Given the description of an element on the screen output the (x, y) to click on. 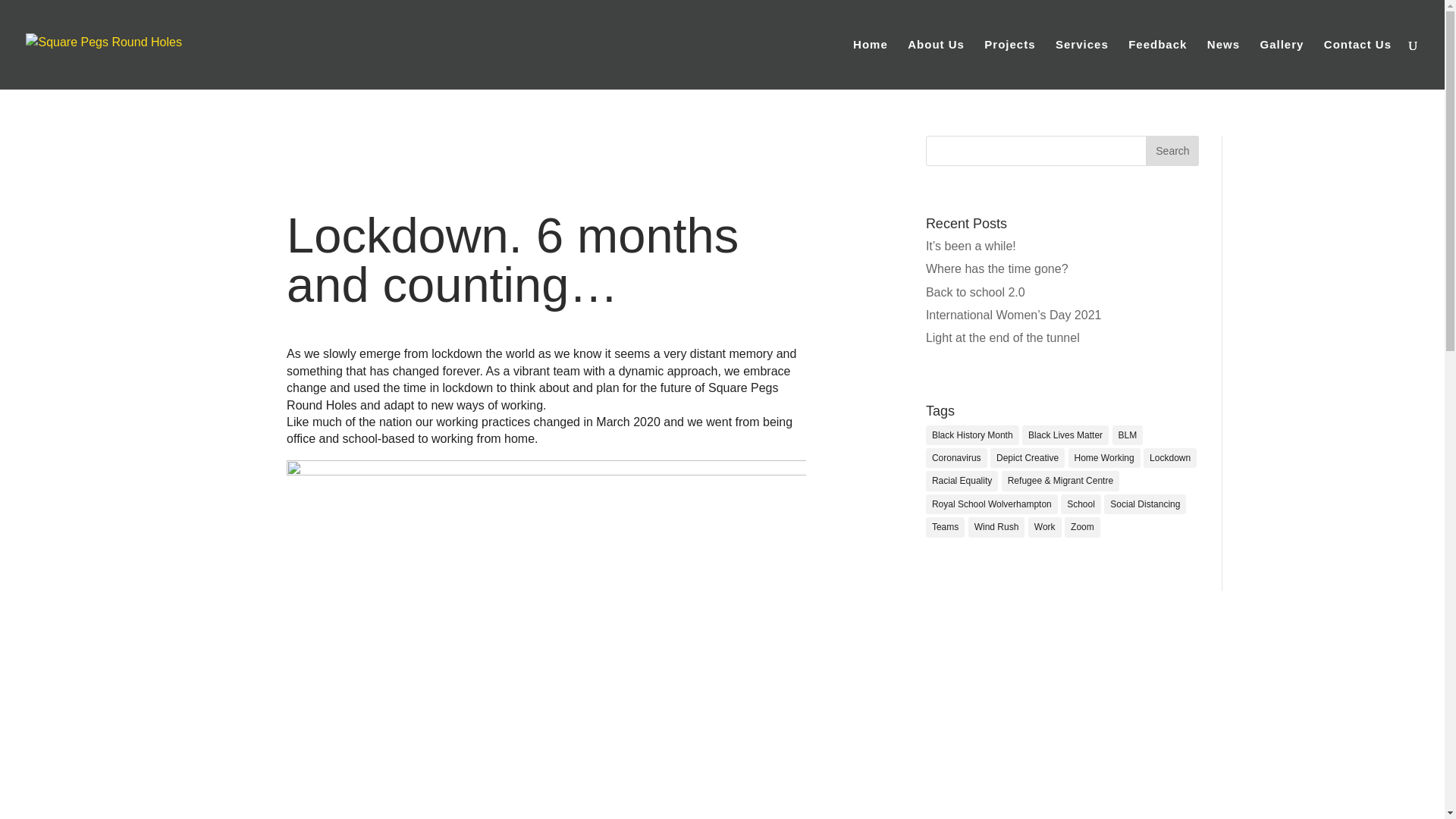
Work (1044, 526)
Royal School Wolverhampton (992, 504)
Lockdown (1169, 457)
About Us (935, 64)
Zoom (1082, 526)
Depict Creative (1027, 457)
Teams (944, 526)
Projects (1009, 64)
School (1080, 504)
Back to school 2.0 (975, 291)
